Given the description of an element on the screen output the (x, y) to click on. 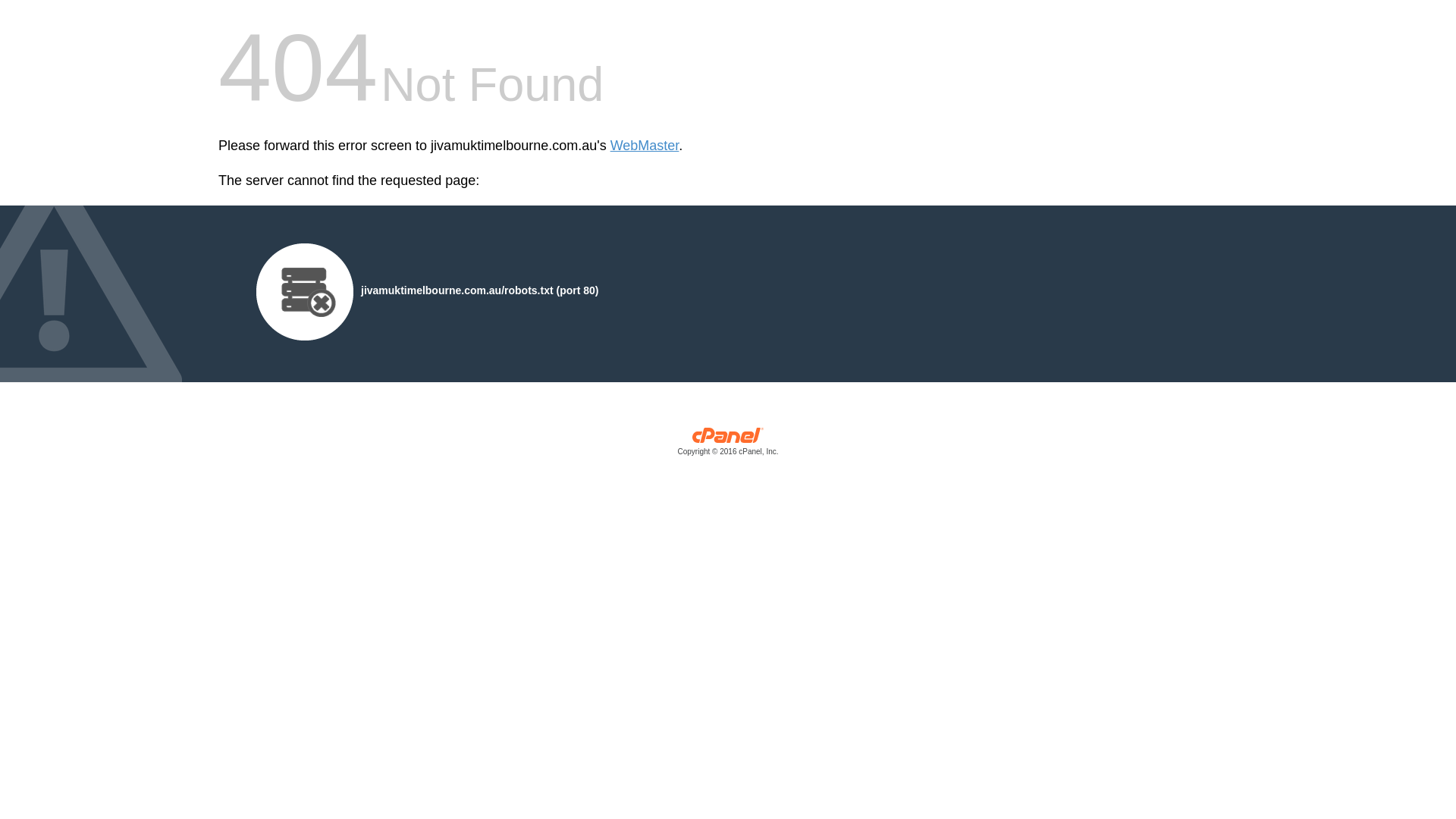
WebMaster Element type: text (644, 145)
